Given the description of an element on the screen output the (x, y) to click on. 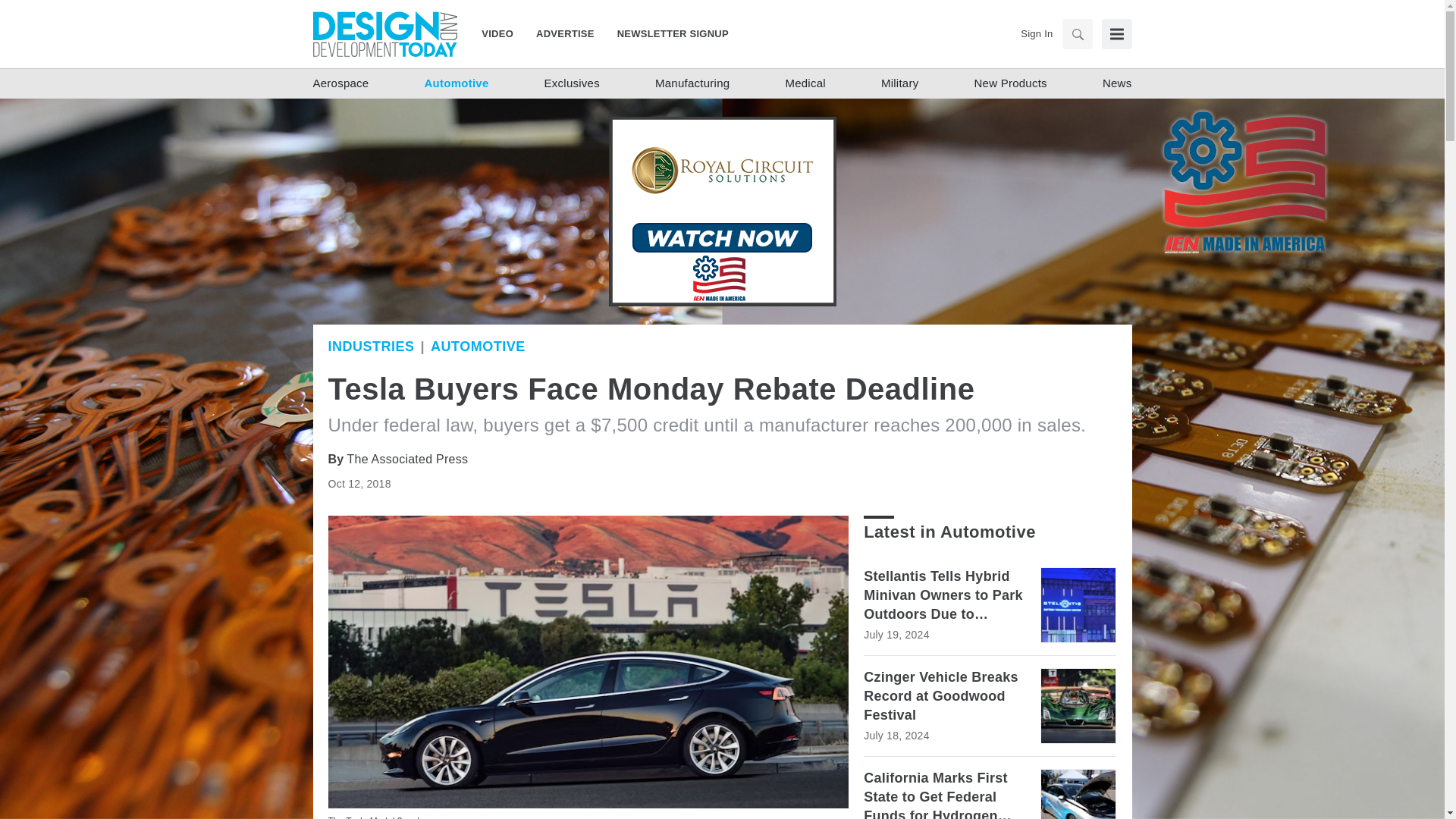
Sign In (1036, 33)
Medical (804, 83)
Industries (370, 346)
Military (899, 83)
News (1117, 83)
Manufacturing (692, 83)
New Products (1010, 83)
Automotive (457, 83)
VIDEO (502, 33)
NEWSLETTER SIGNUP (667, 33)
Exclusives (571, 83)
ADVERTISE (564, 33)
Automotive (477, 346)
Aerospace (340, 83)
